Given the description of an element on the screen output the (x, y) to click on. 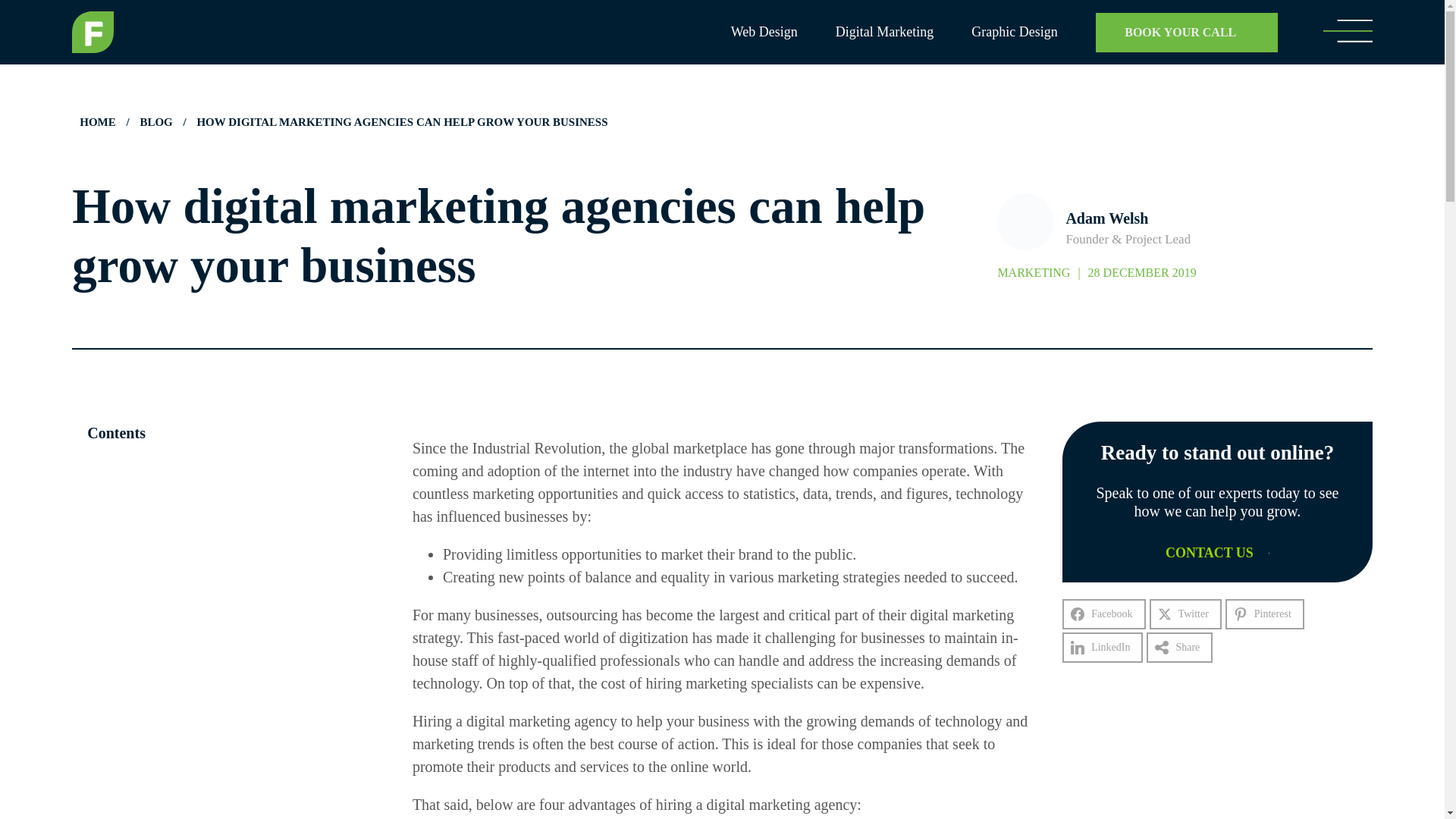
LinkedIn (1102, 647)
BOOK YOUR CALL (1187, 31)
BLOG (155, 121)
Share on Pinterest (1264, 613)
Digital Marketing (884, 32)
CONTACT US (1217, 552)
Facebook (1103, 613)
Share on LinkedIn (1102, 647)
Share on Twitter (1185, 613)
Share on Facebook (1103, 613)
Share (1179, 647)
Share on Share (1179, 647)
Twitter (1185, 613)
Pinterest (1264, 613)
HOME (97, 121)
